Given the description of an element on the screen output the (x, y) to click on. 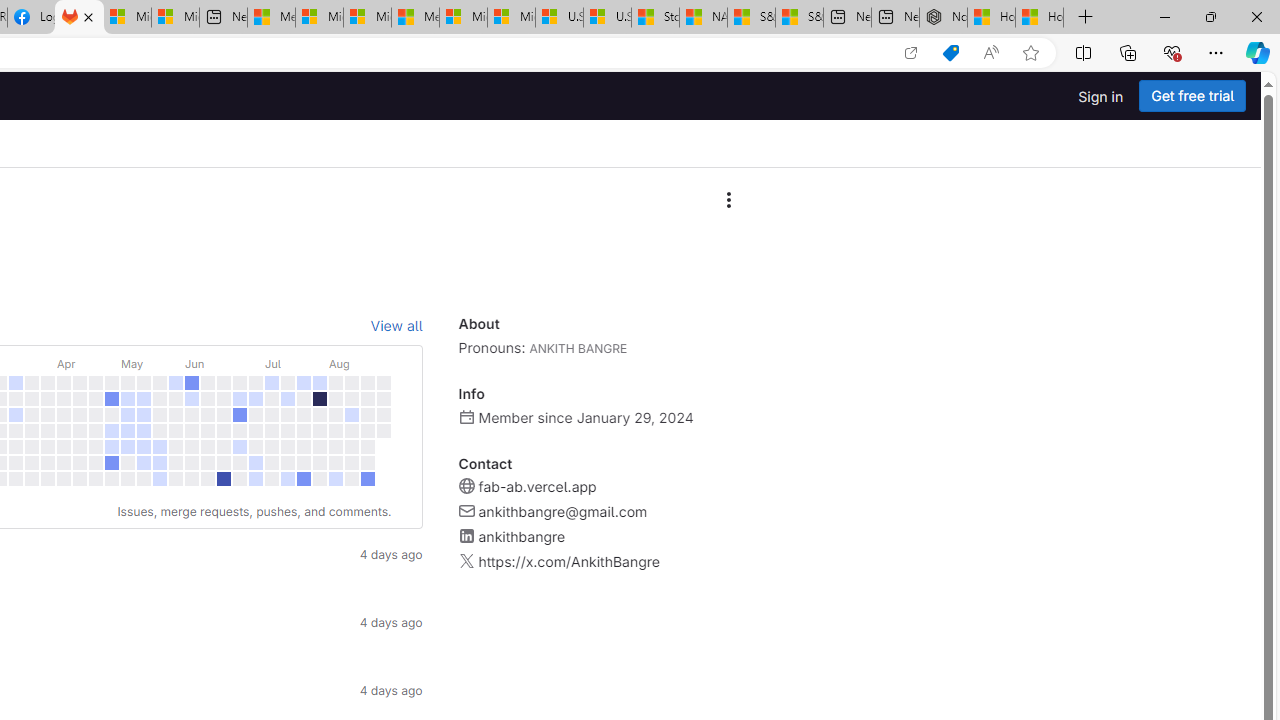
Microsoft account | Home (367, 17)
